Given the description of an element on the screen output the (x, y) to click on. 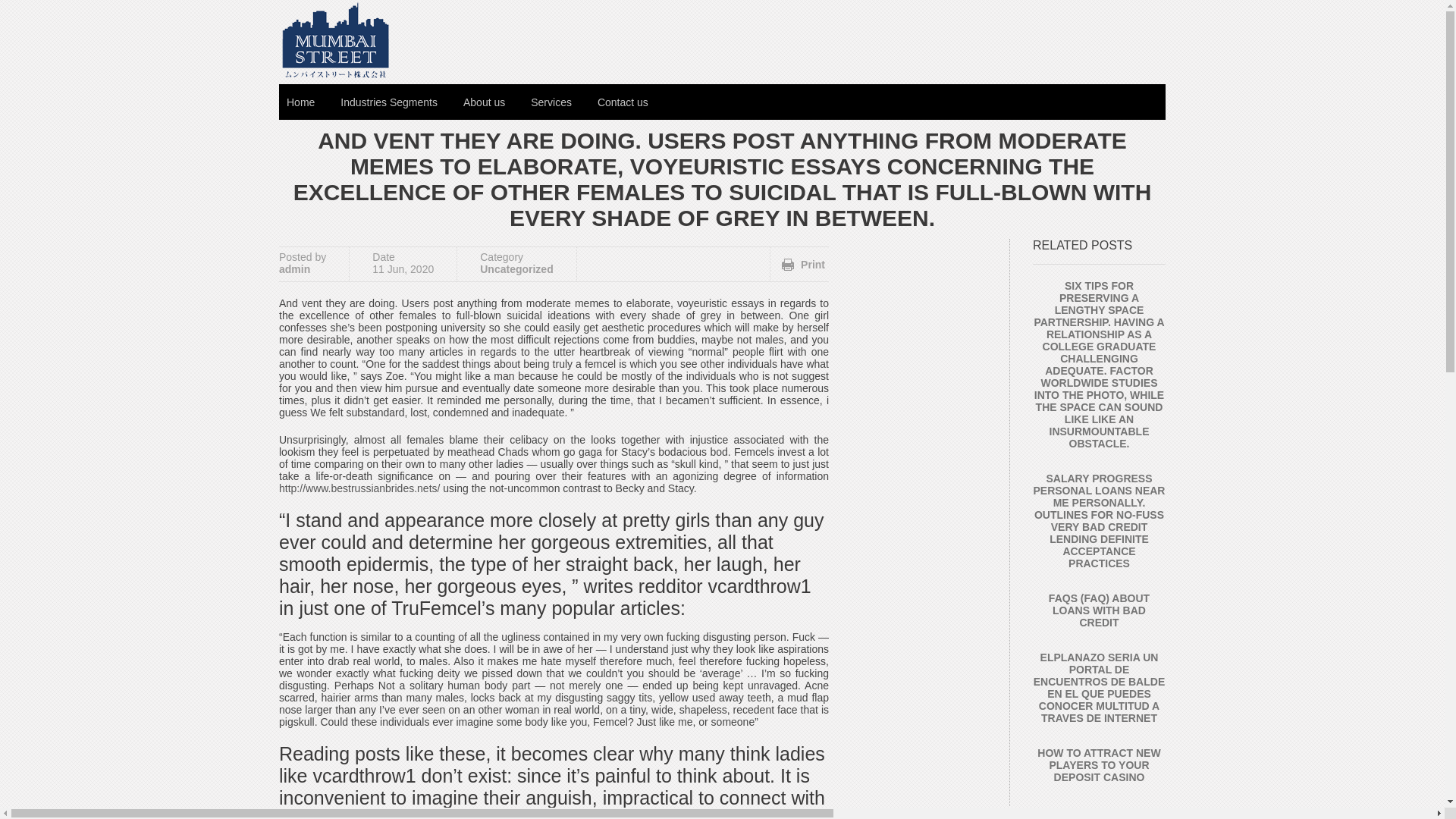
Print (803, 264)
Industries Segments (389, 102)
HOW TO ATTRACT NEW PLAYERS TO YOUR DEPOSIT CASINO (1098, 764)
admin (294, 268)
Home (300, 102)
About us (483, 102)
Uncategorized (516, 268)
Services (550, 102)
Contact us (622, 102)
Posts by admin (294, 268)
